Given the description of an element on the screen output the (x, y) to click on. 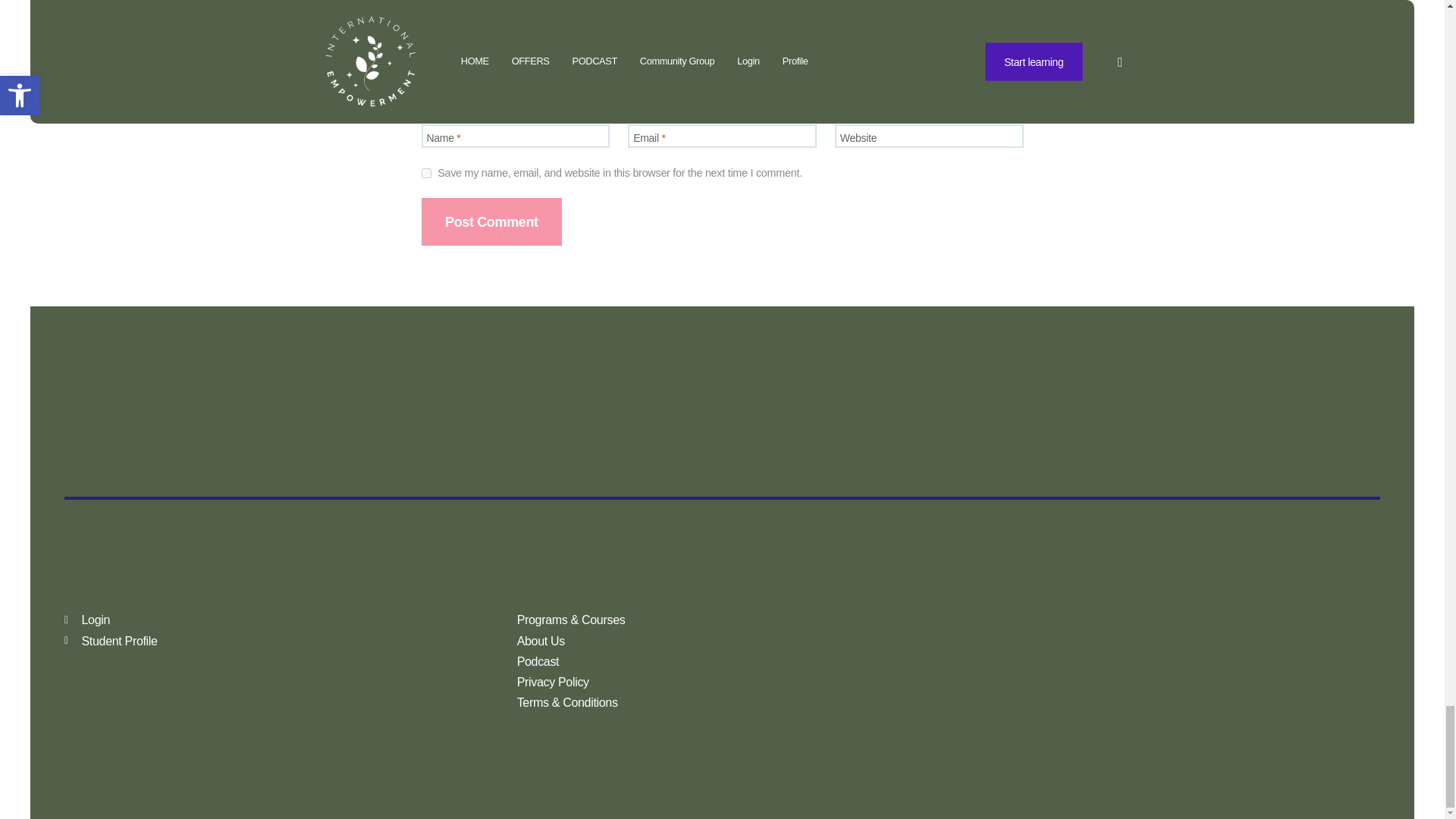
yes (426, 173)
Post Comment (492, 221)
